Given the description of an element on the screen output the (x, y) to click on. 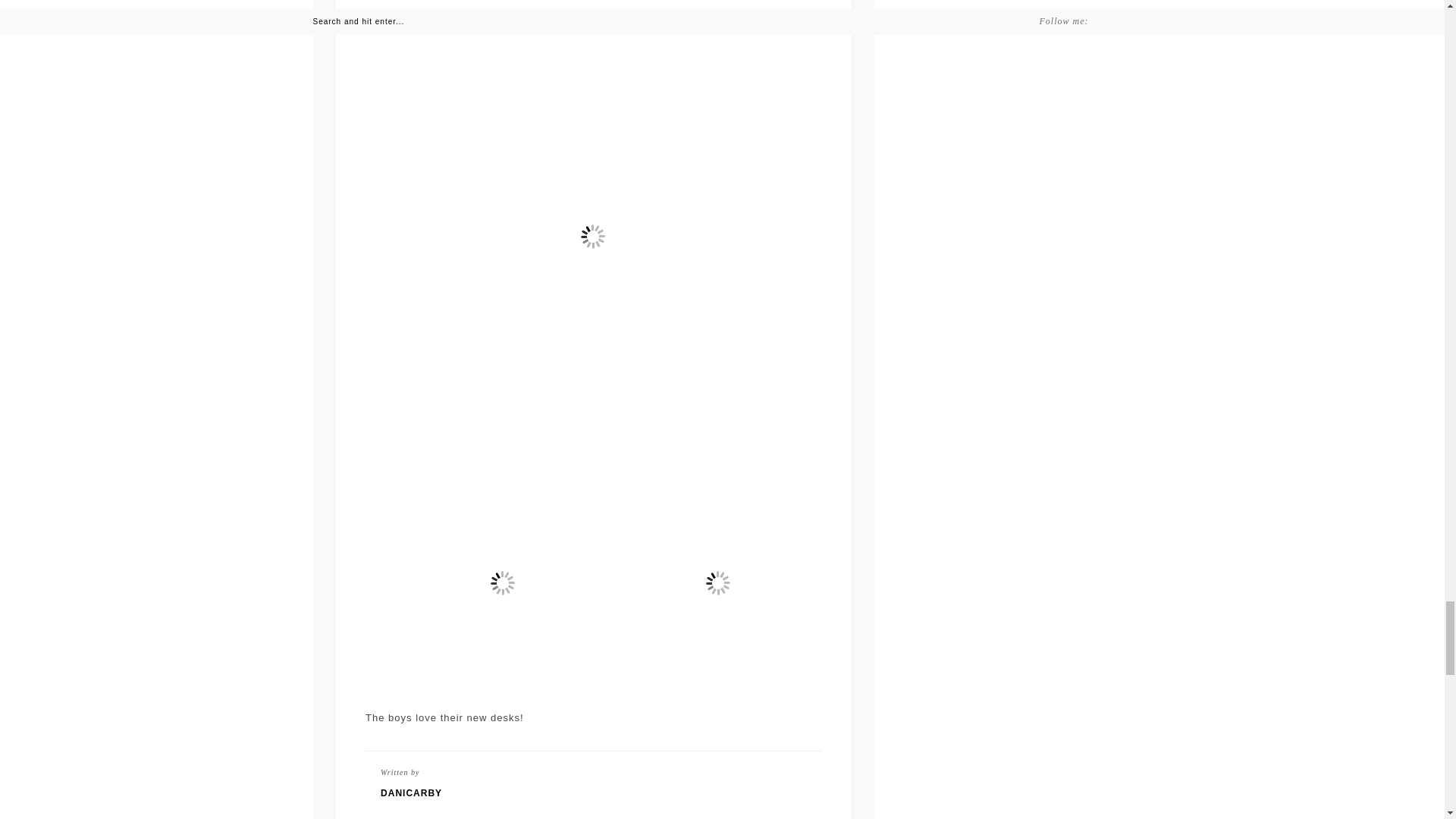
Posts by danicarby (593, 793)
